Given the description of an element on the screen output the (x, y) to click on. 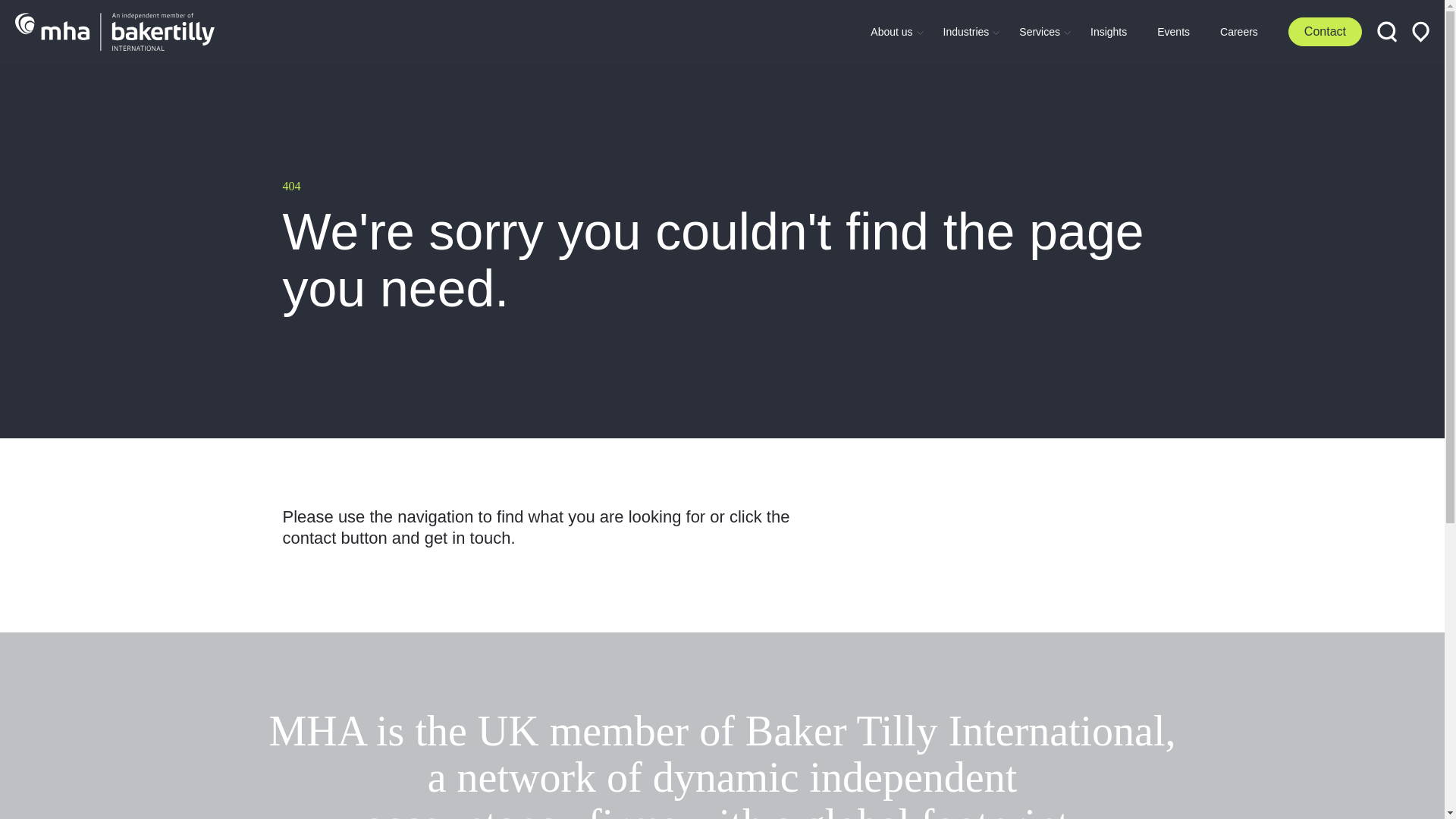
About us (891, 31)
Industries (966, 31)
